Given the description of an element on the screen output the (x, y) to click on. 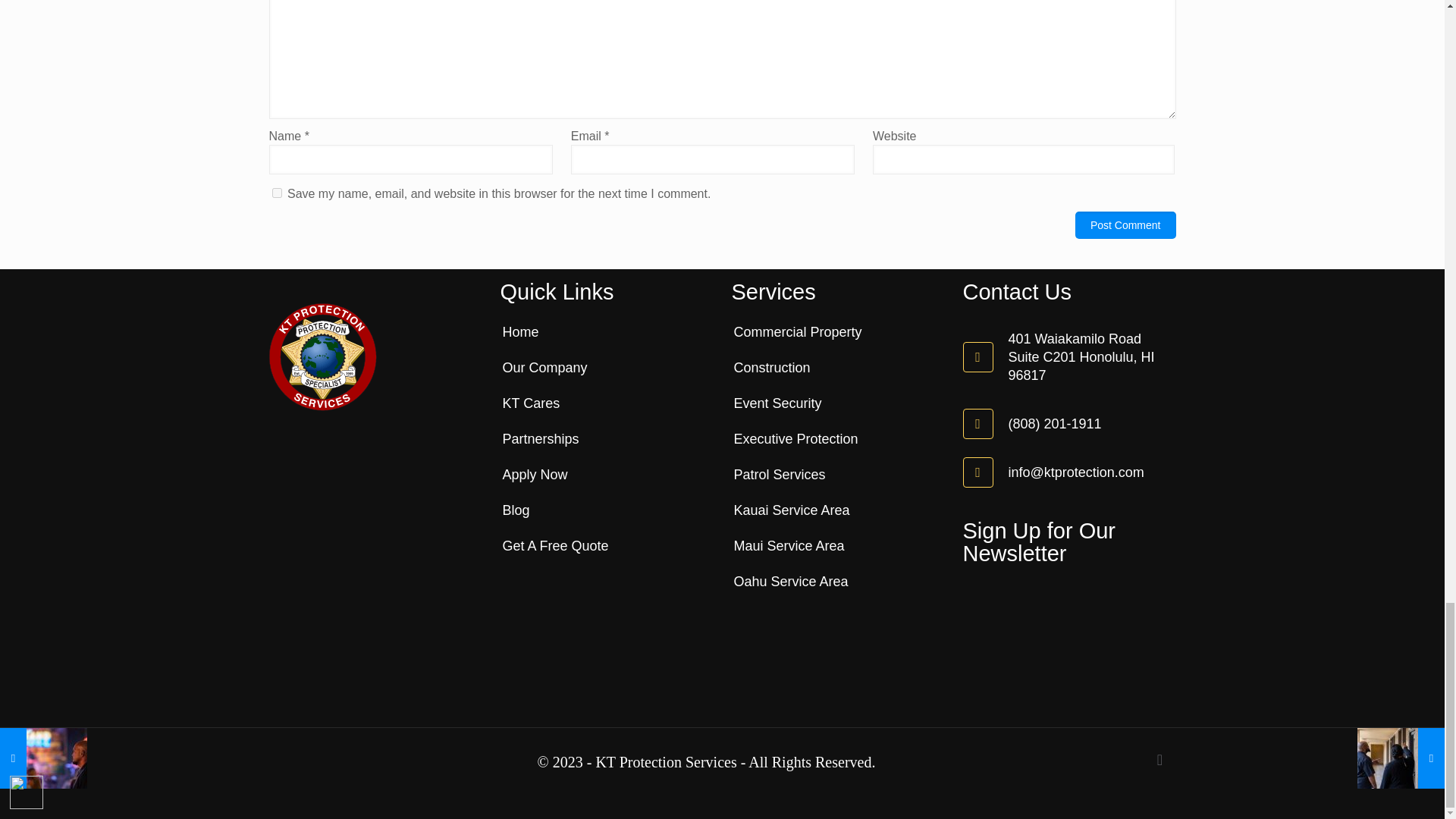
Post Comment (1125, 225)
yes (275, 192)
Form 0 (1069, 633)
